Given the description of an element on the screen output the (x, y) to click on. 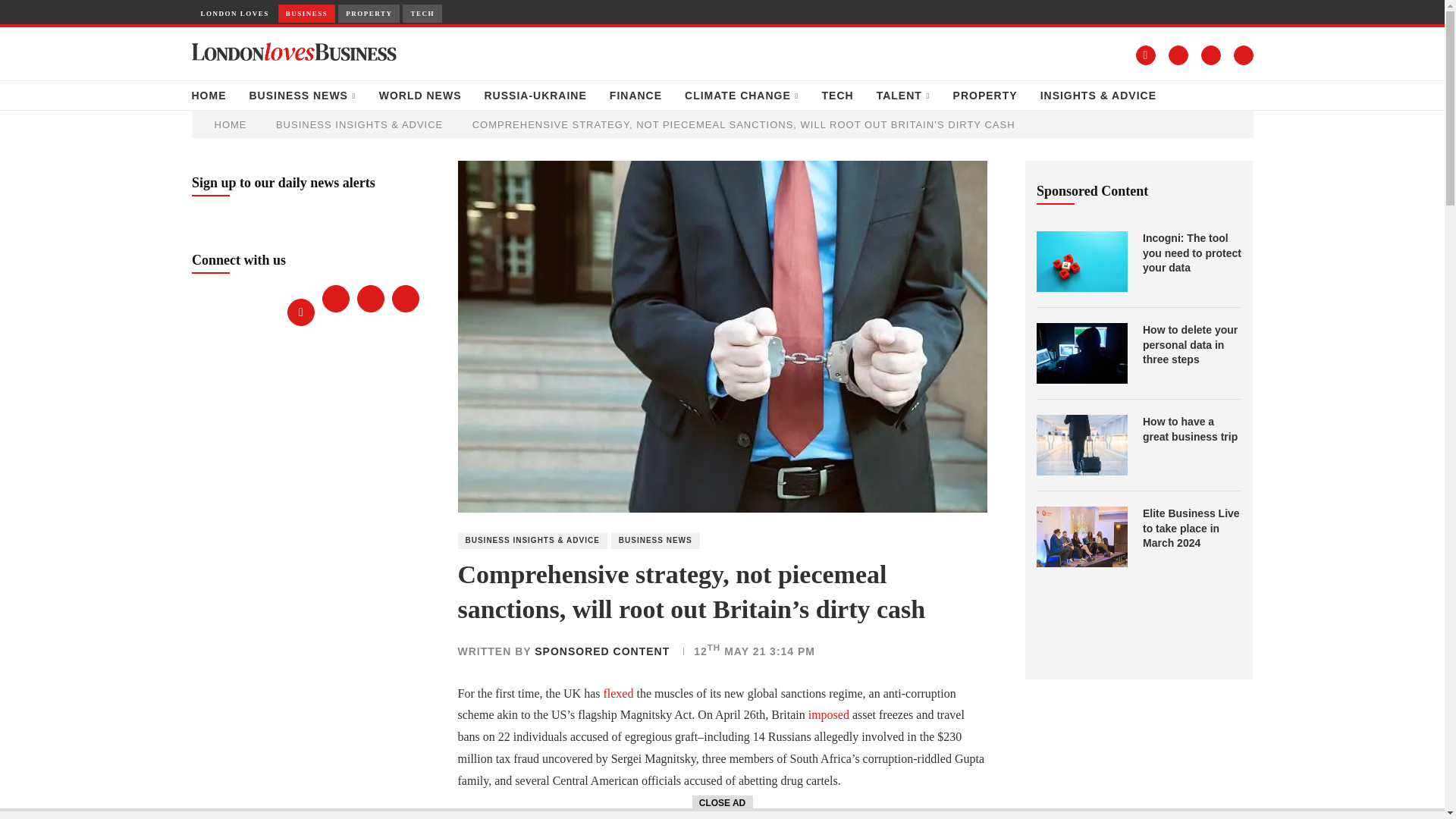
How to delete your personal data in three steps (1081, 353)
How to delete your personal data in three steps (1191, 344)
Incogni: The tool you need to protect your data (1081, 260)
Incogni: The tool you need to protect your data (1191, 253)
How to have a great business trip (1081, 444)
